Given the description of an element on the screen output the (x, y) to click on. 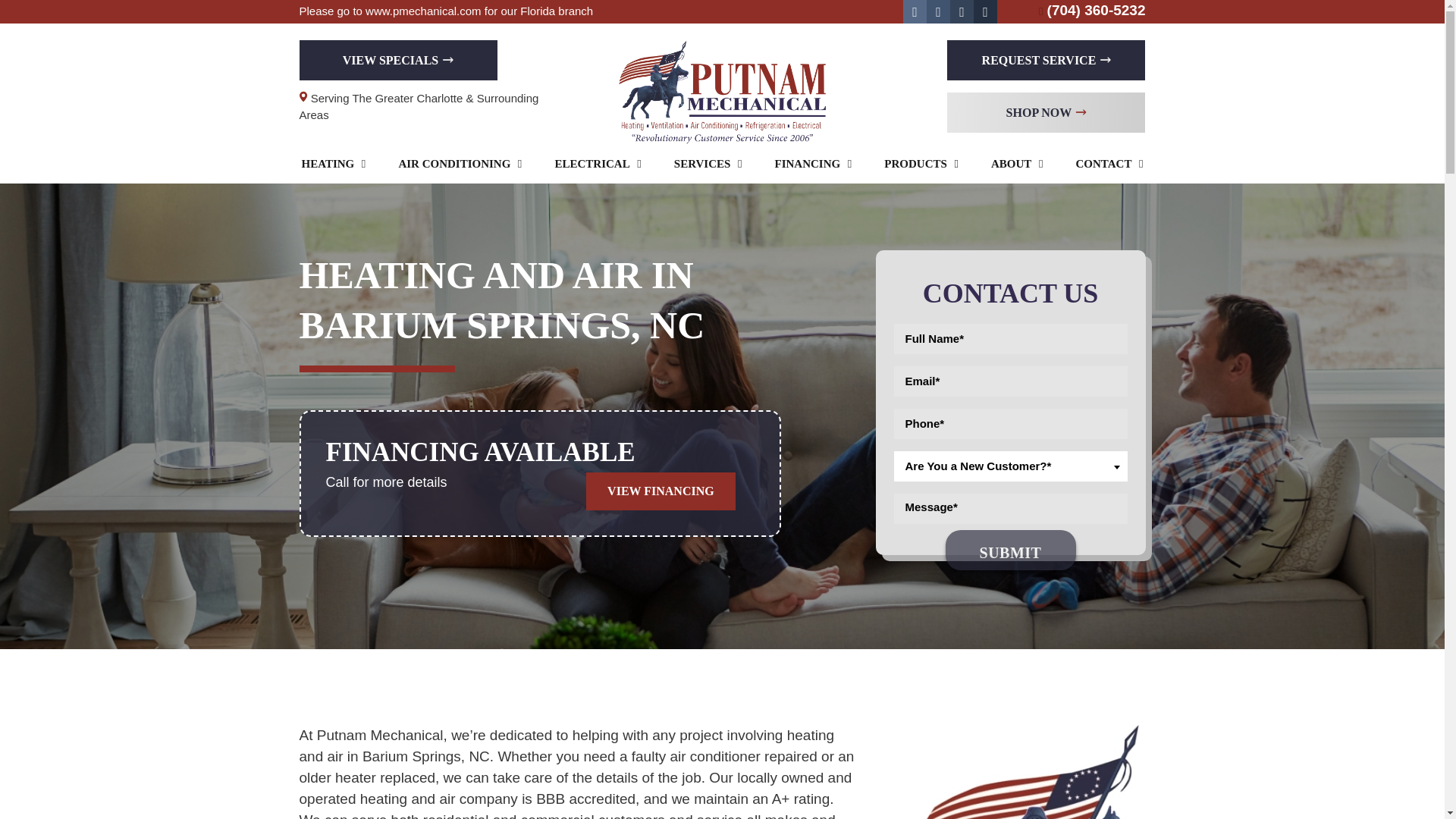
Submit (1009, 549)
Putnam Mechanical (721, 91)
